Given the description of an element on the screen output the (x, y) to click on. 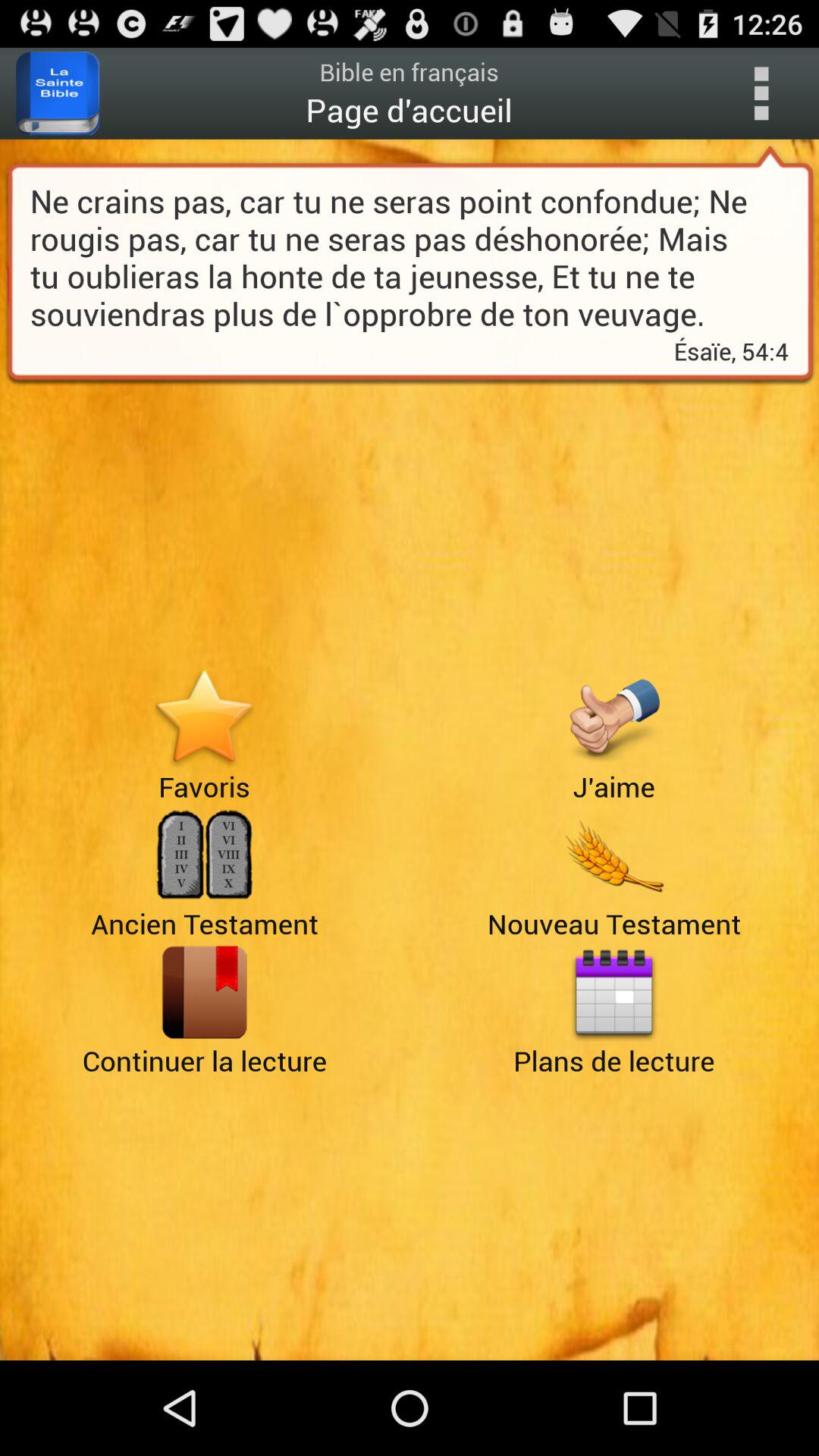
give a thumbs up or like (613, 717)
